Given the description of an element on the screen output the (x, y) to click on. 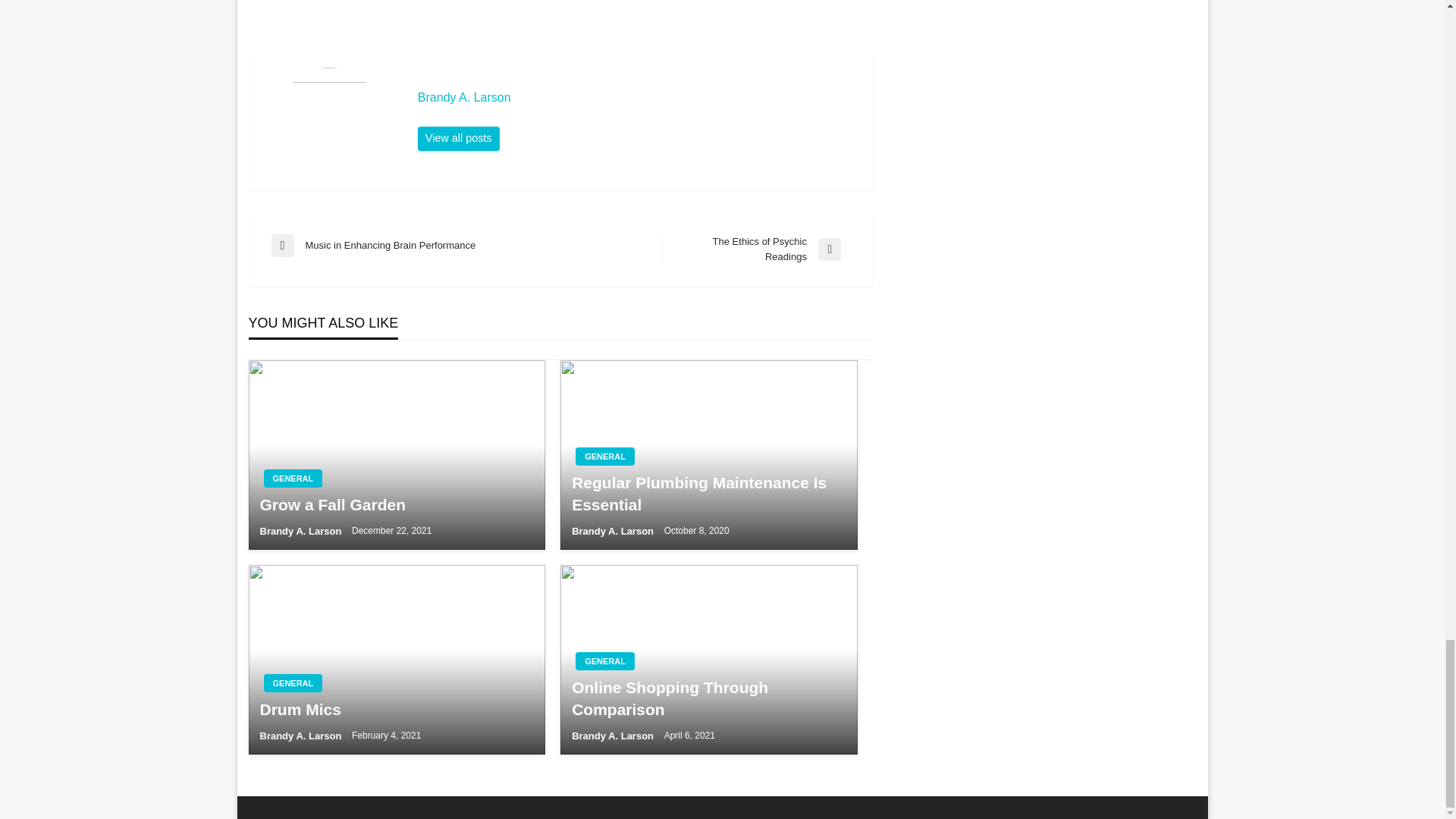
Brandy A. Larson (458, 138)
Brandy A. Larson (301, 531)
View all posts (755, 248)
GENERAL (458, 138)
Brandy A. Larson (415, 245)
Brandy A. Larson (293, 478)
Grow a Fall Garden (637, 97)
